Given the description of an element on the screen output the (x, y) to click on. 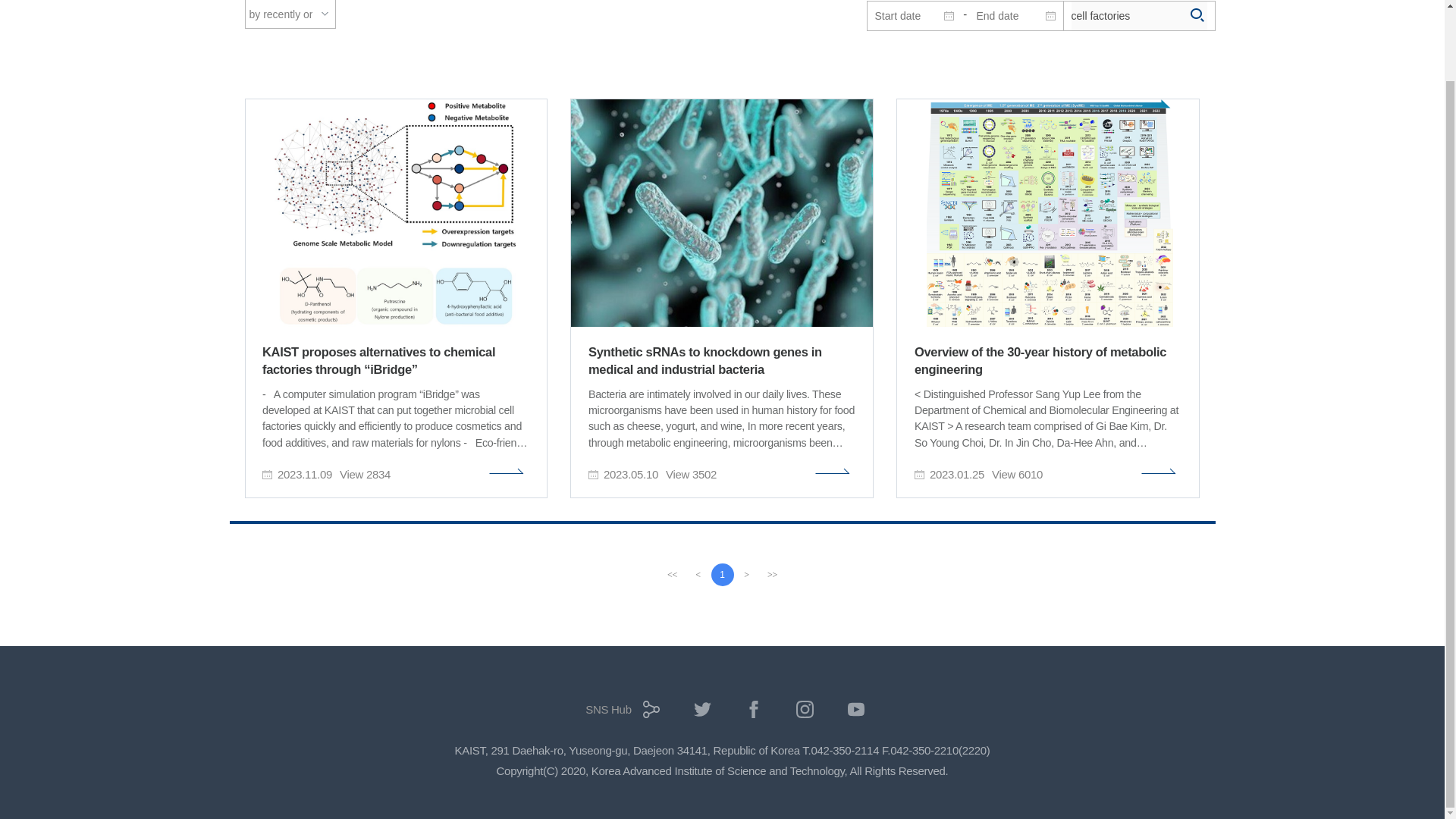
cell factories (1138, 15)
SNS Hub (619, 715)
1 (722, 574)
Input a Keyword (1138, 15)
